Given the description of an element on the screen output the (x, y) to click on. 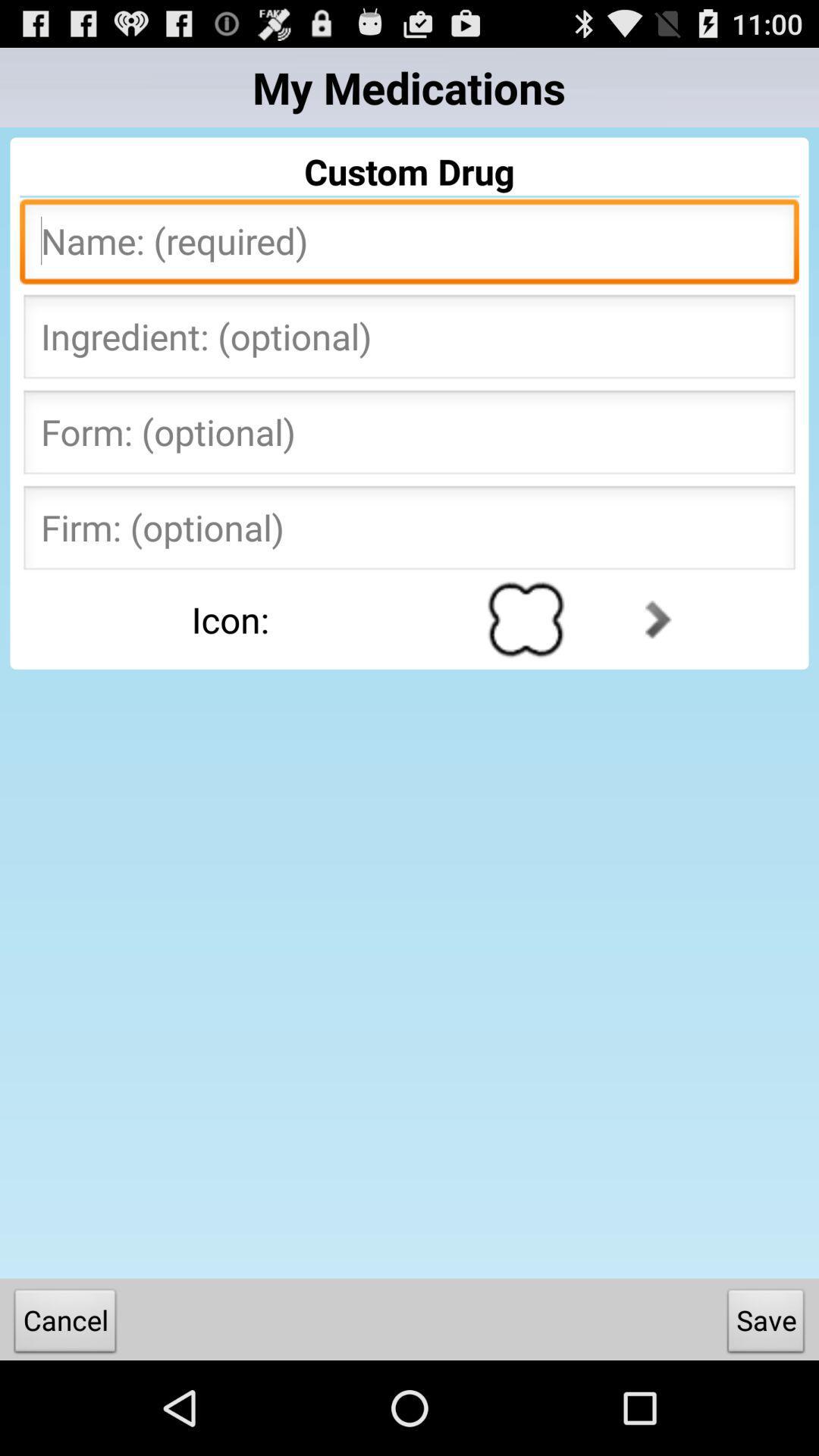
medicine ingredient optional (409, 341)
